Given the description of an element on the screen output the (x, y) to click on. 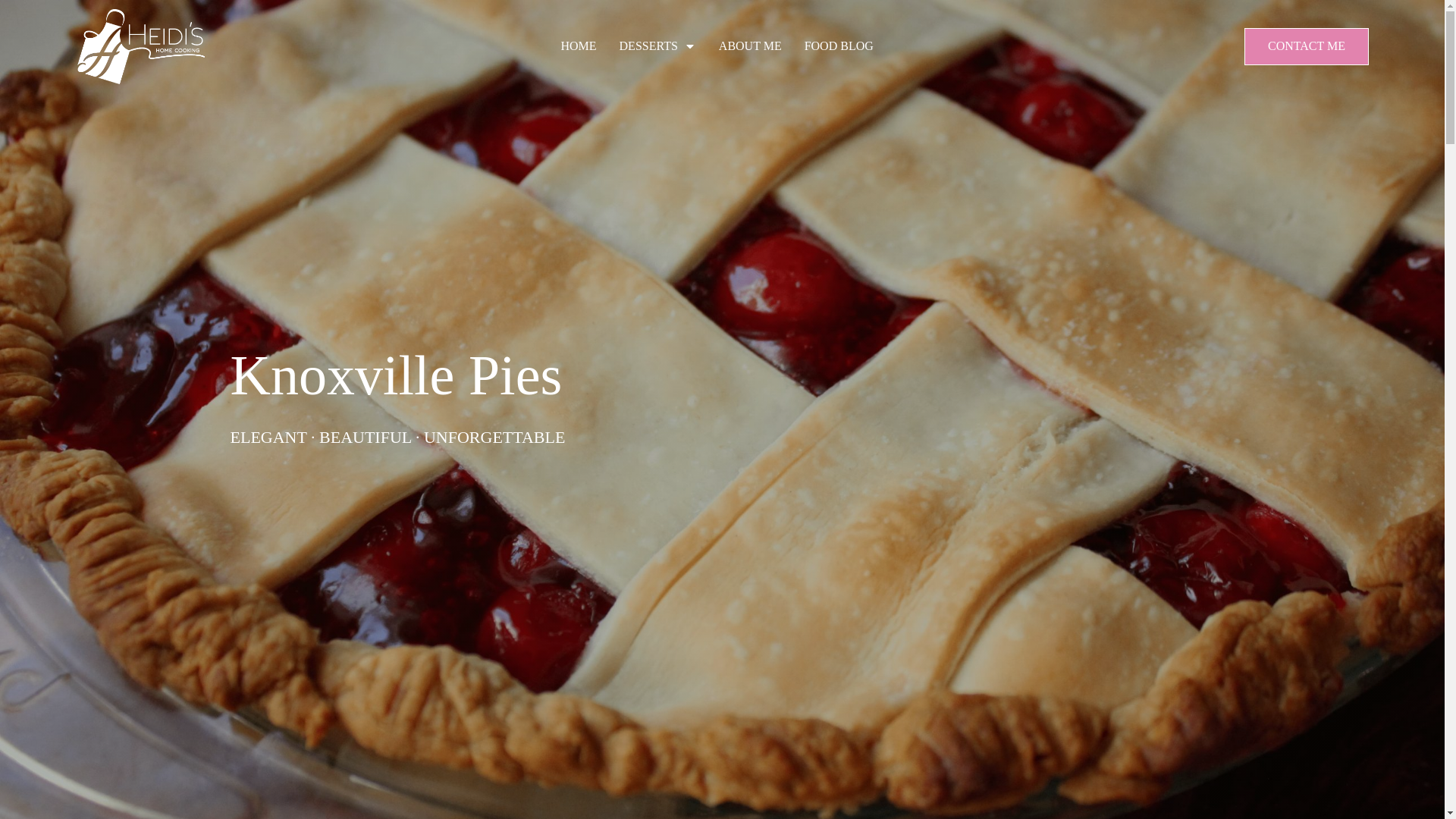
HOME (577, 46)
DESSERTS (657, 46)
CONTACT ME (1306, 46)
ABOUT ME (750, 46)
FOOD BLOG (839, 46)
